Given the description of an element on the screen output the (x, y) to click on. 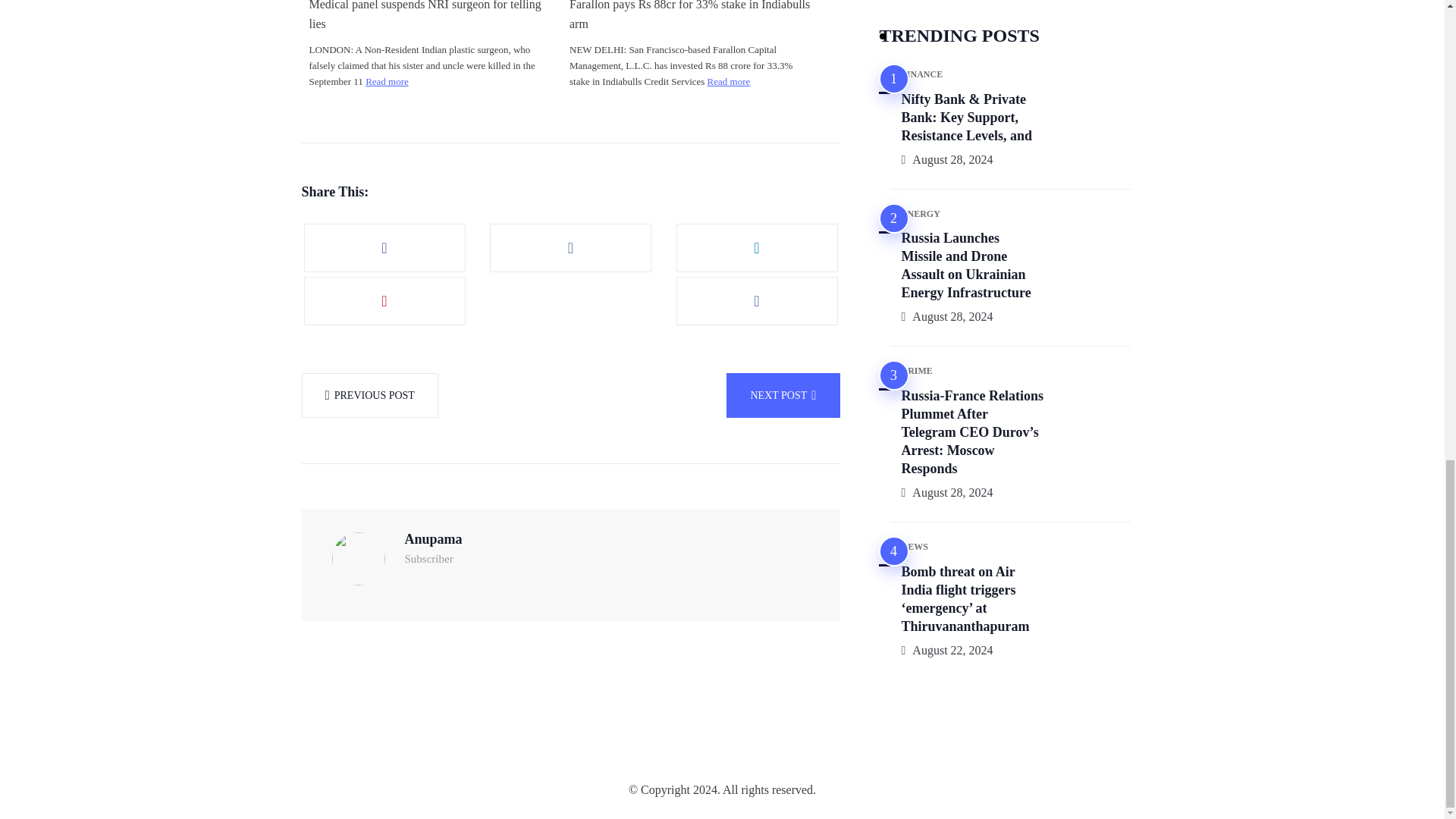
Medical panel suspends NRI surgeon for telling lies (429, 17)
Medical panel suspends NRI surgeon for telling lies (429, 17)
Read more (387, 81)
Read more (729, 81)
